Given the description of an element on the screen output the (x, y) to click on. 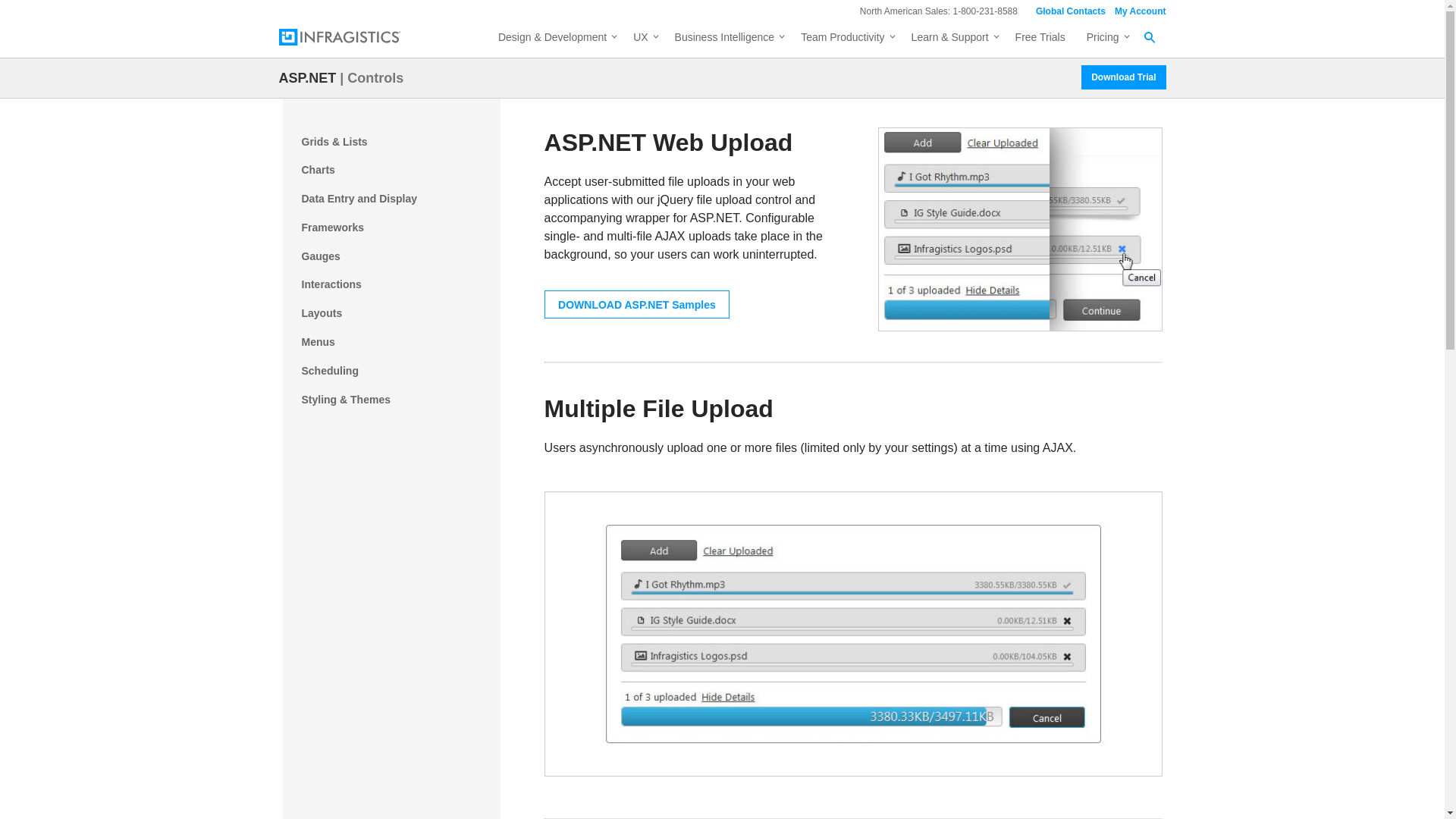
Team Productivity (844, 39)
search (1137, 20)
My Account (1140, 11)
Learn and Support (952, 39)
Contact Us (1070, 11)
UX (643, 39)
Team Productivity (844, 39)
Global Contacts (1070, 11)
Business Intelligence (726, 39)
Business Intelligence (726, 39)
Design and Development (555, 39)
UX (643, 39)
